Given the description of an element on the screen output the (x, y) to click on. 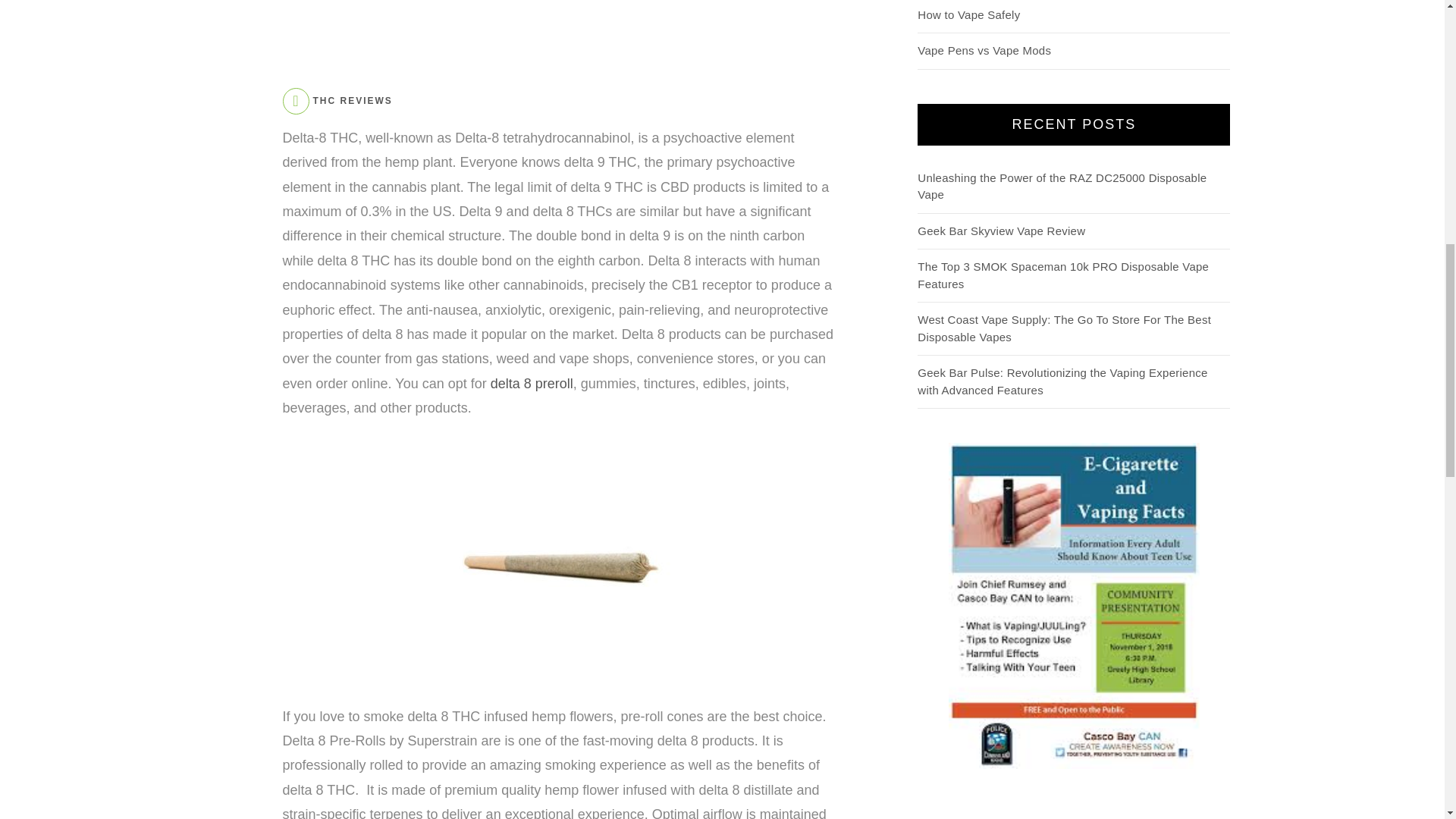
THC REVIEWS (352, 100)
The Top 3 SMOK Spaceman 10k PRO Disposable Vape Features (1062, 275)
Vape Pens vs Vape Mods (984, 50)
Unleashing the Power of the RAZ DC25000 Disposable Vape (1062, 186)
Geek Bar Skyview Vape Review (1000, 230)
delta 8 preroll (531, 383)
How to Vape Safely (968, 13)
